Given the description of an element on the screen output the (x, y) to click on. 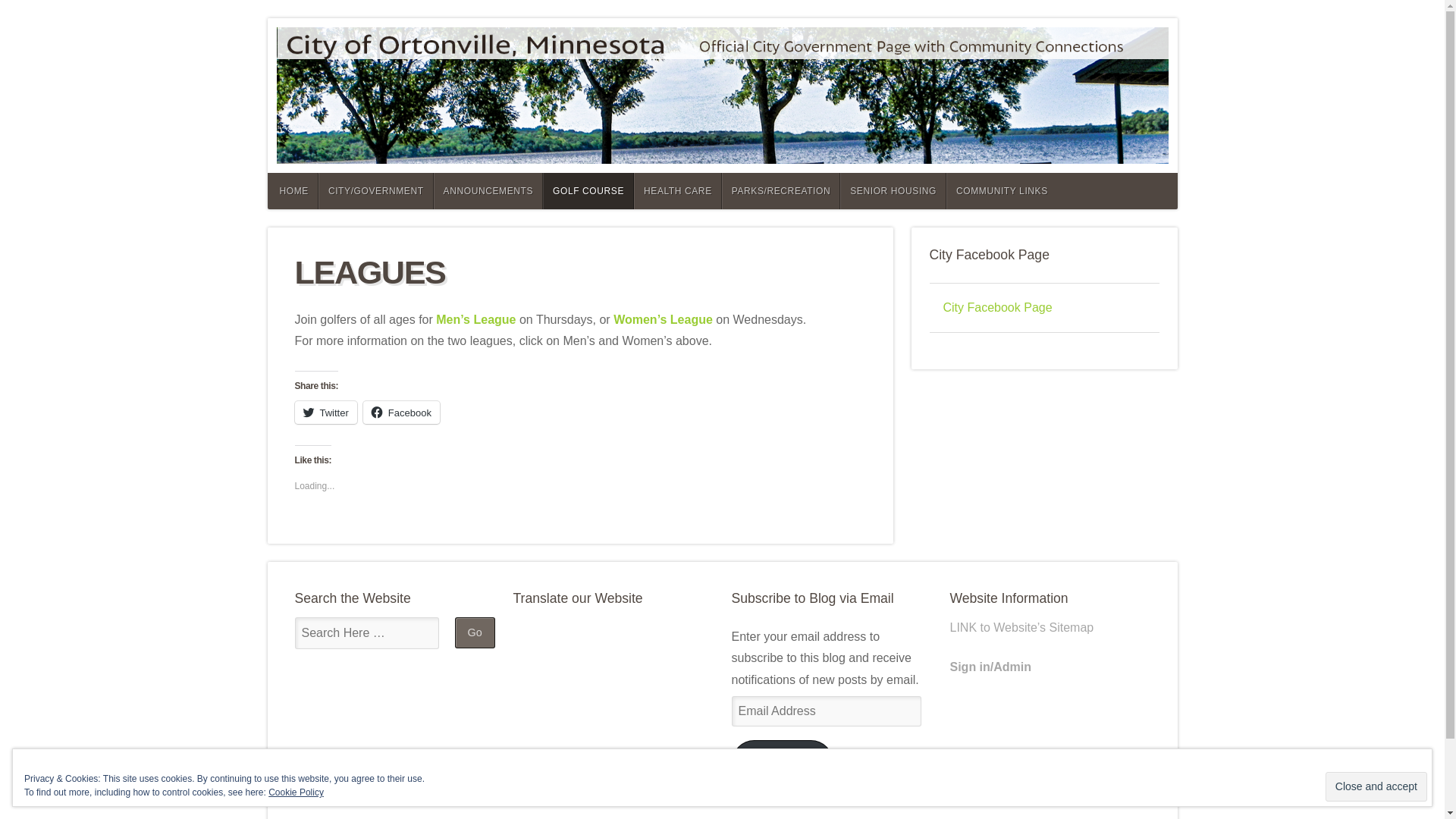
Twitter (325, 411)
Close and accept (1375, 786)
Facebook (400, 411)
Click to share on Twitter (325, 411)
GOLF COURSE (588, 190)
HOME (291, 190)
HEALTH CARE (677, 190)
Click to share on Facebook (400, 411)
Go (474, 632)
ANNOUNCEMENTS (488, 190)
